Given the description of an element on the screen output the (x, y) to click on. 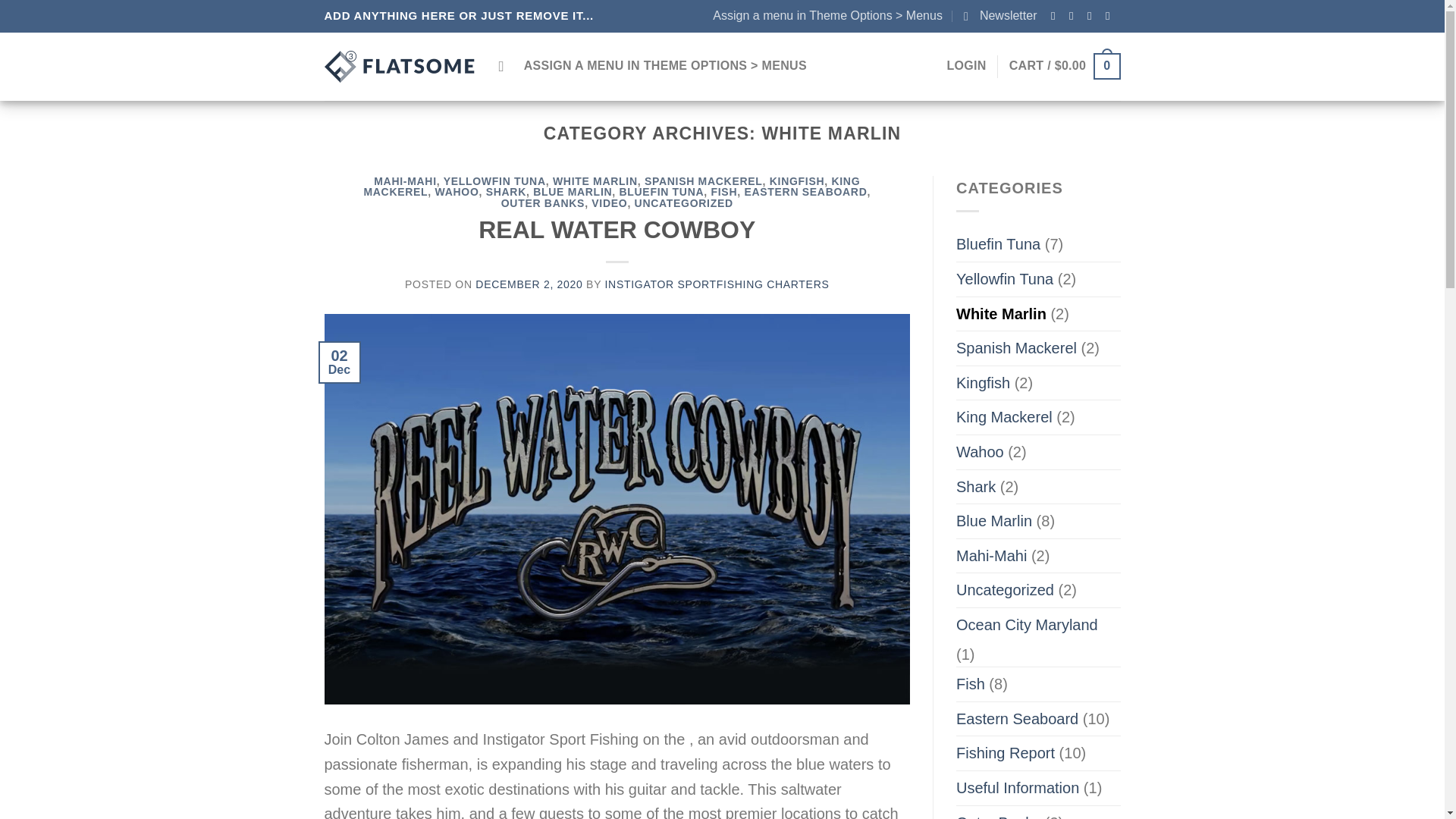
UNCATEGORIZED (683, 203)
VIDEO (609, 203)
KINGFISH (797, 181)
EASTERN SEABOARD (805, 191)
DECEMBER 2, 2020 (529, 284)
FISH (724, 191)
MAHI-MAHI (405, 181)
Cart (1065, 65)
REAL WATER COWBOY (617, 229)
SHARK (505, 191)
OUTER BANKS (542, 203)
KING MACKEREL (611, 187)
WHITE MARLIN (595, 181)
INSTIGATOR SPORTFISHING CHARTERS (717, 284)
